Given the description of an element on the screen output the (x, y) to click on. 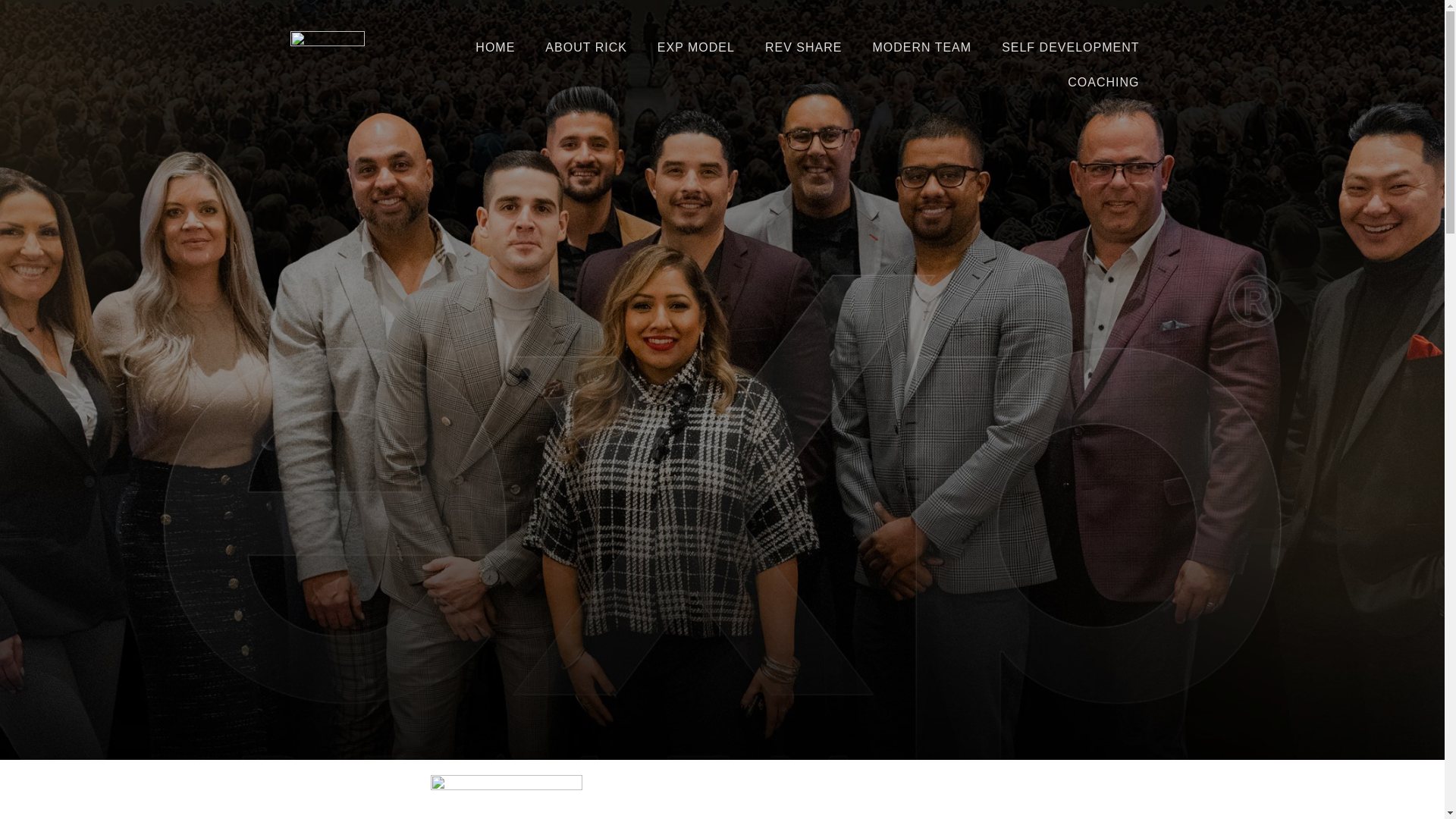
EXP MODEL (695, 47)
HOME (494, 47)
SELF DEVELOPMENT (1070, 47)
REV SHARE (803, 47)
ABOUT RICK (585, 47)
MODERN TEAM (922, 47)
COACHING (1103, 82)
